Given the description of an element on the screen output the (x, y) to click on. 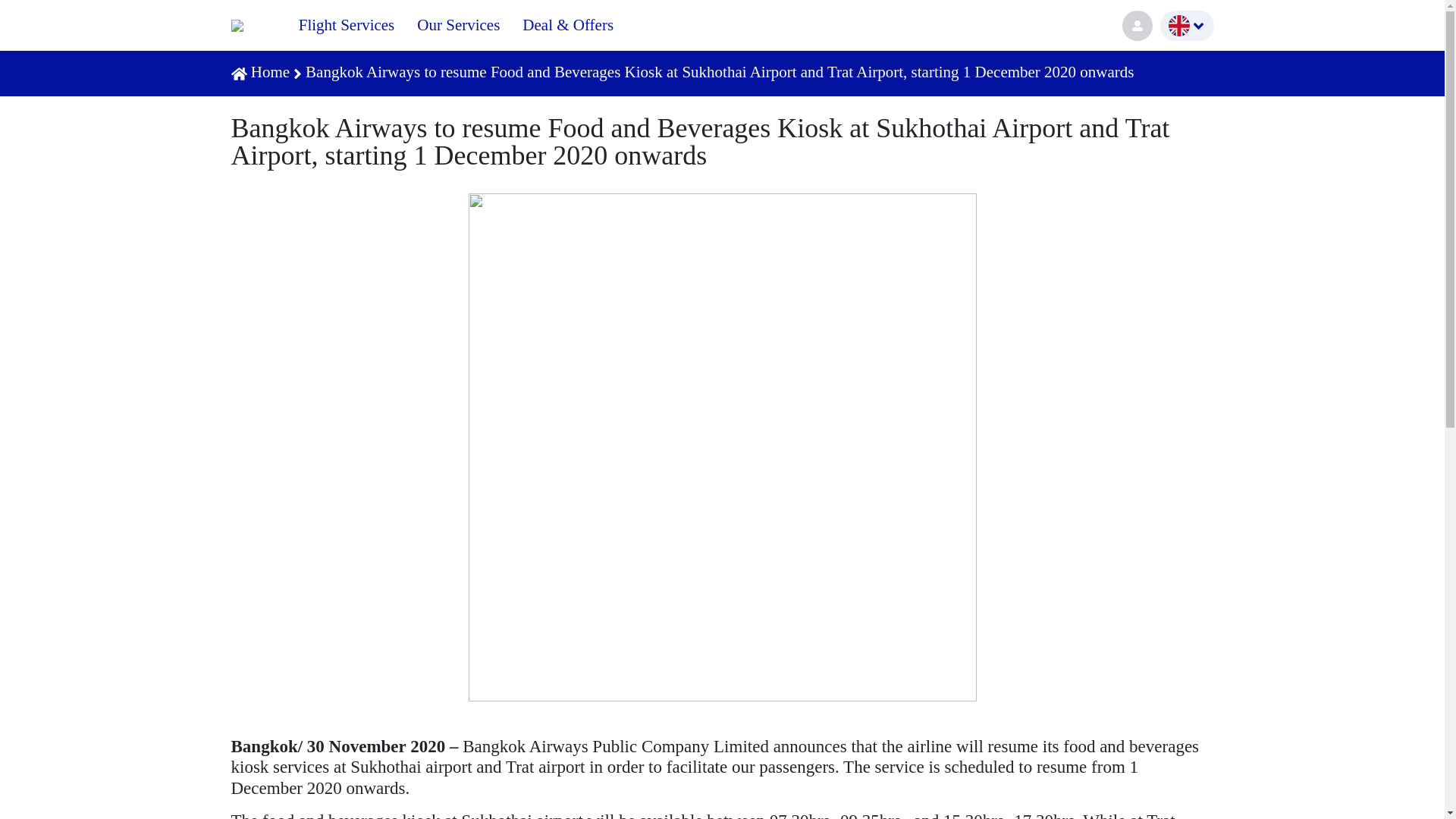
Home (269, 72)
Our Services (458, 25)
Flight Services (346, 25)
